Given the description of an element on the screen output the (x, y) to click on. 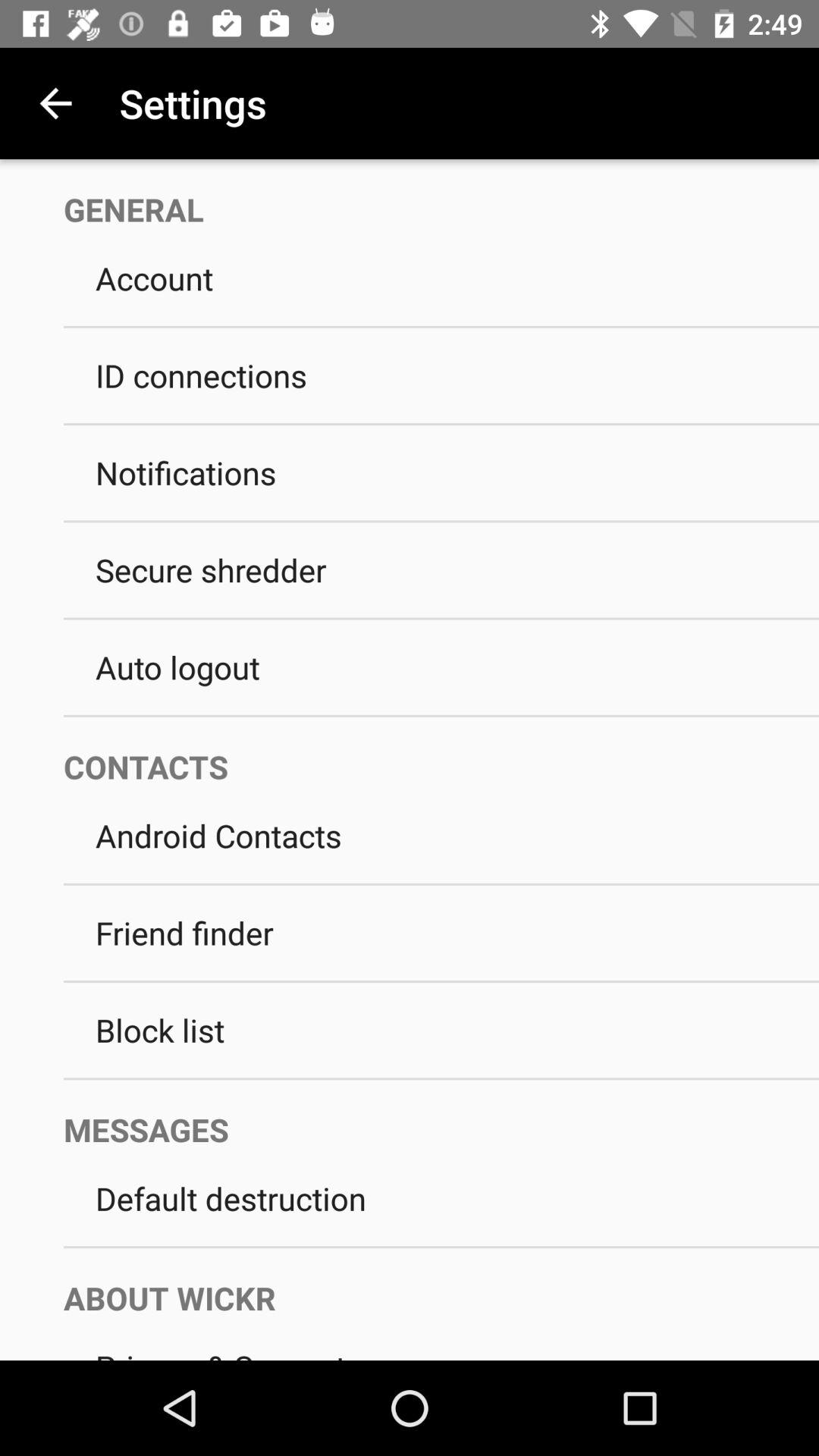
turn off the icon above the messages (441, 1078)
